Given the description of an element on the screen output the (x, y) to click on. 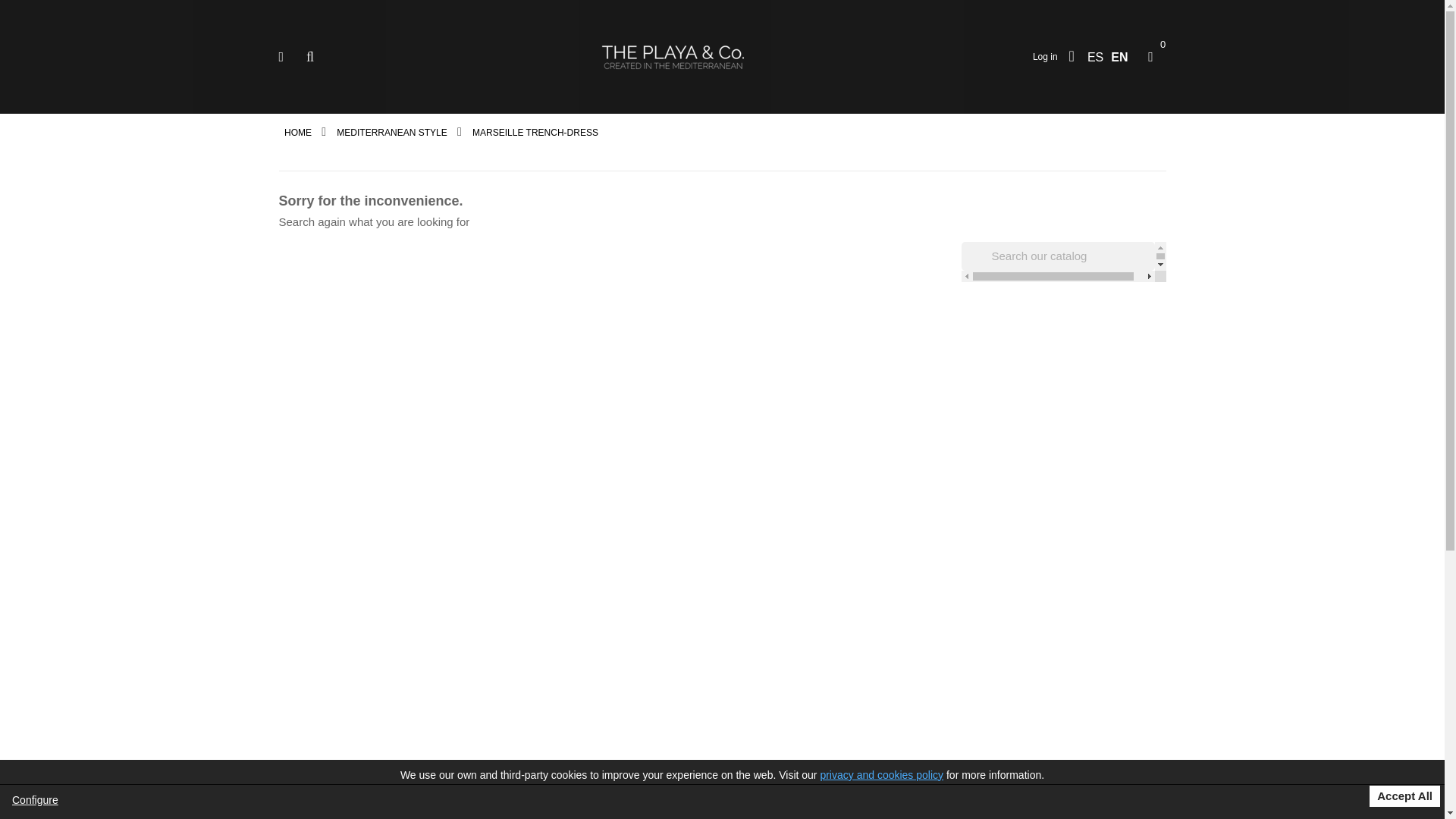
privacy and cookies policy (881, 775)
Create an account (1072, 57)
Log in to your customer account (1045, 56)
MEDITERRANEAN STYLE (392, 132)
HOME (298, 132)
MARSEILLE TRENCH-DRESS (534, 132)
